Given the description of an element on the screen output the (x, y) to click on. 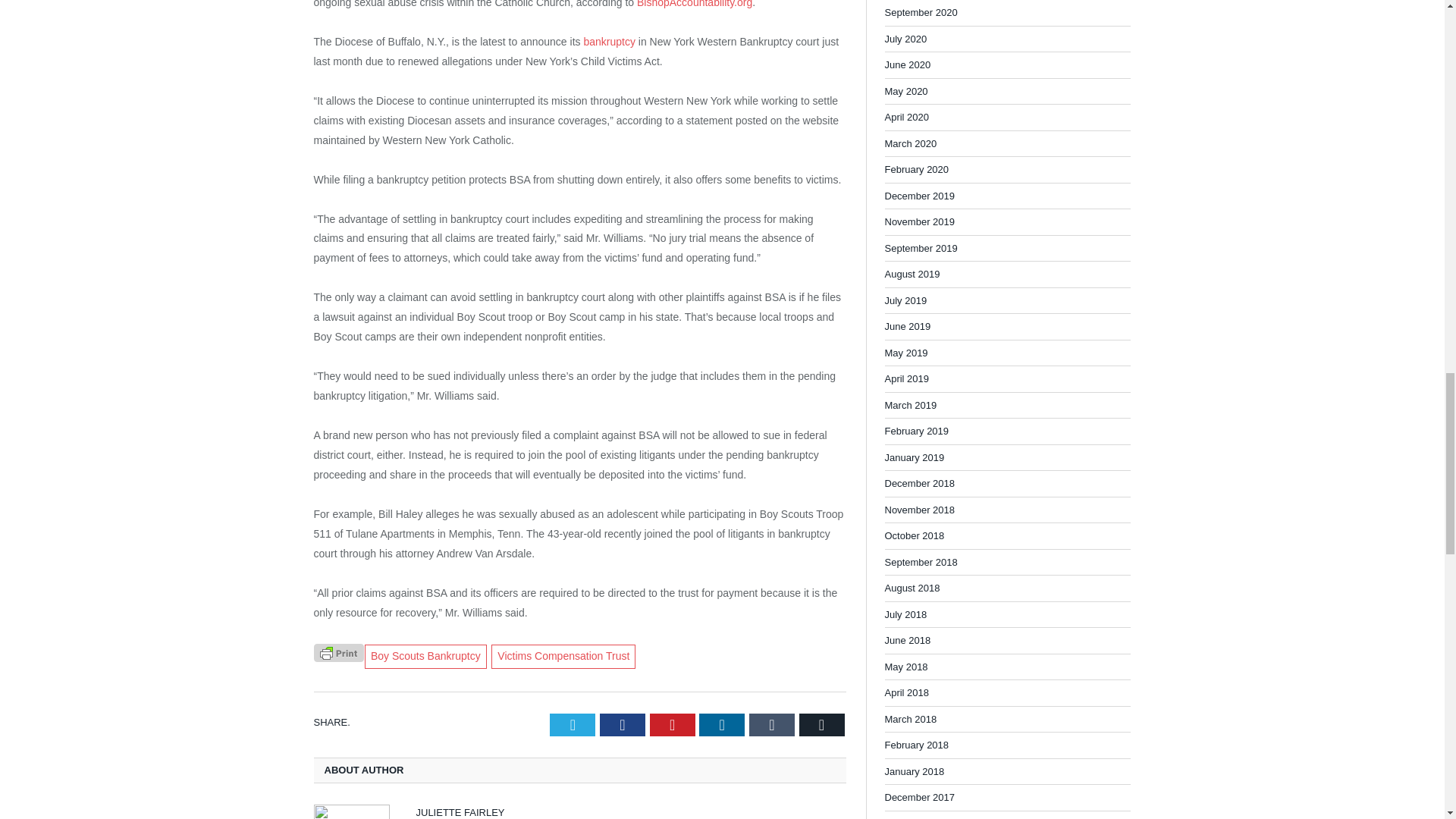
BishopAccountability.org (694, 4)
bankruptcy (608, 41)
Twitter (572, 724)
Boy Scouts Bankruptcy (425, 656)
Facebook (622, 724)
Victims Compensation Trust (563, 656)
